Given the description of an element on the screen output the (x, y) to click on. 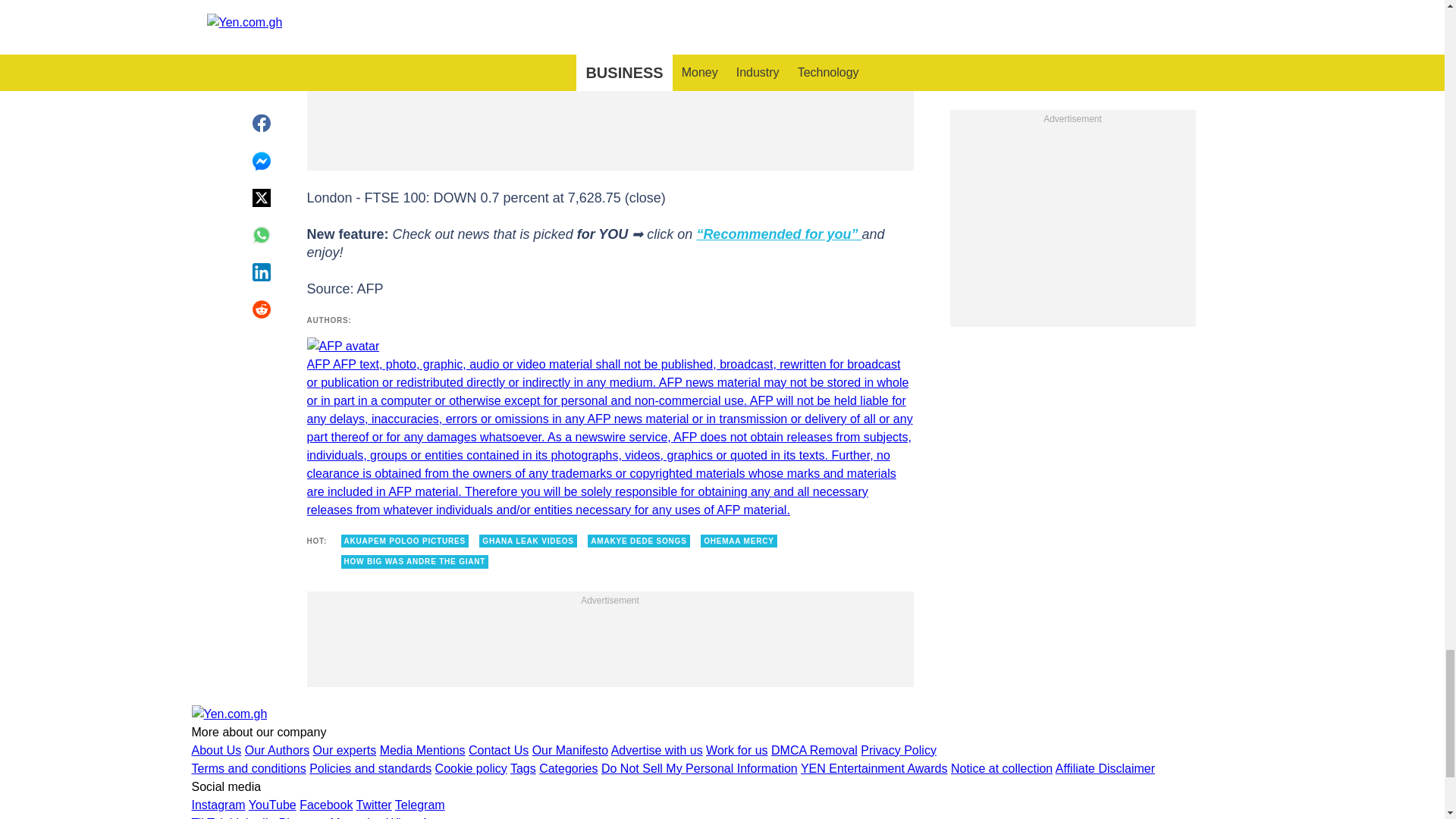
Author page (608, 428)
